Given the description of an element on the screen output the (x, y) to click on. 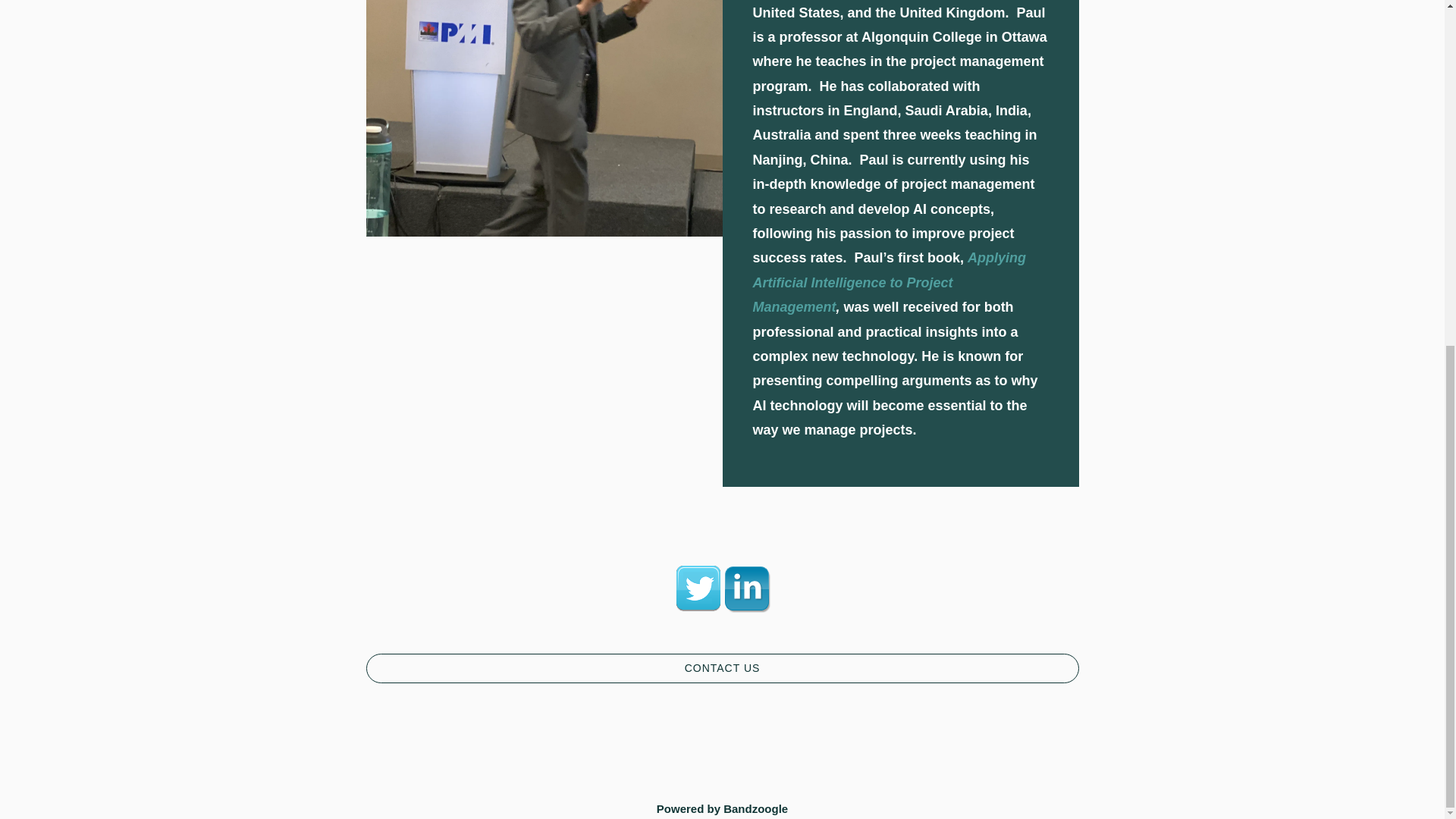
Powered by Bandzoogle (721, 808)
Applying Artificial Intelligence to Project Management (888, 282)
CONTACT US (721, 668)
Powered by Bandzoogle (721, 808)
